Given the description of an element on the screen output the (x, y) to click on. 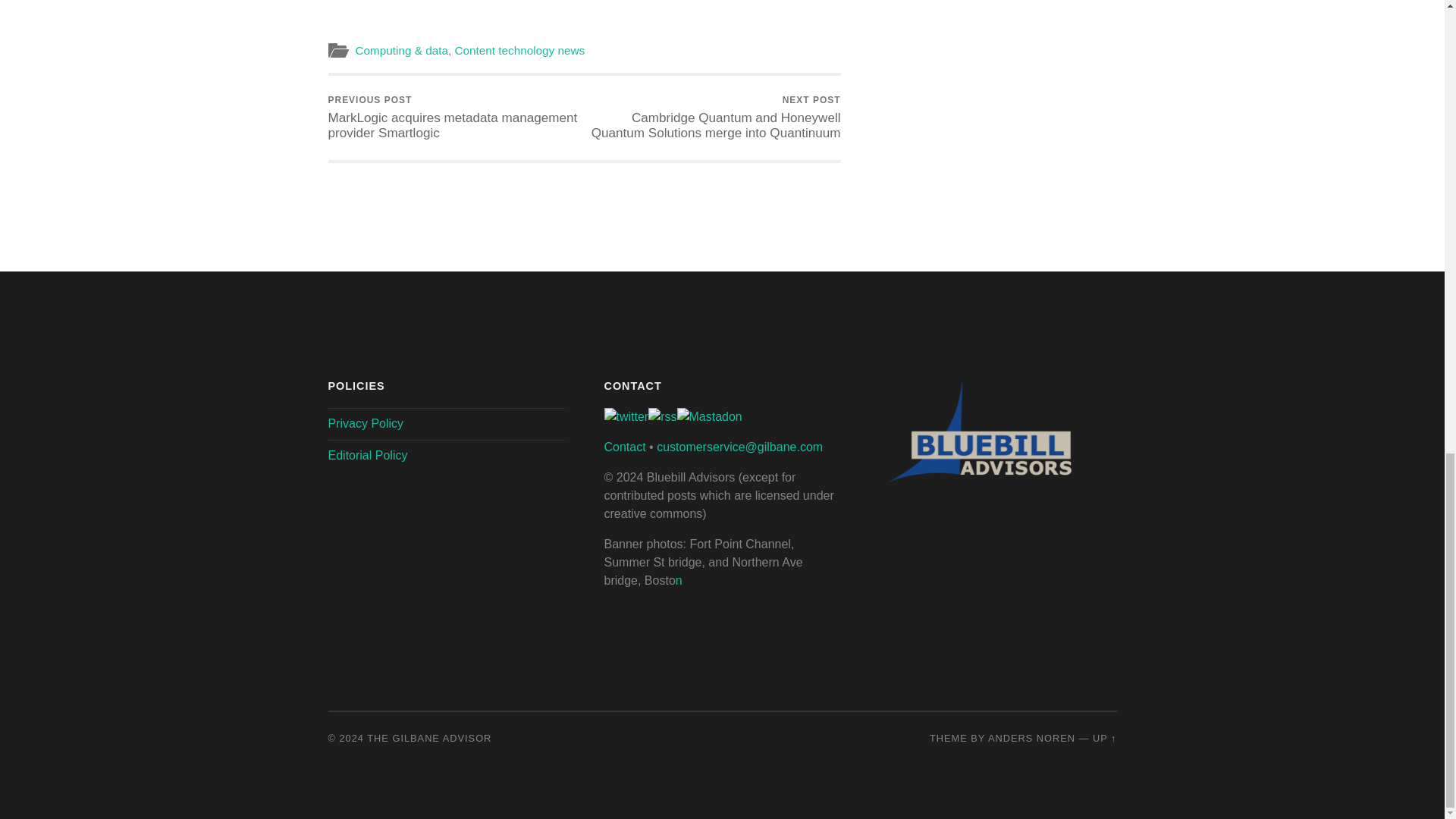
Gilbane twitter feed (625, 416)
To the top (1104, 737)
Mastadon-logo-purple-32x34 (709, 416)
